Given the description of an element on the screen output the (x, y) to click on. 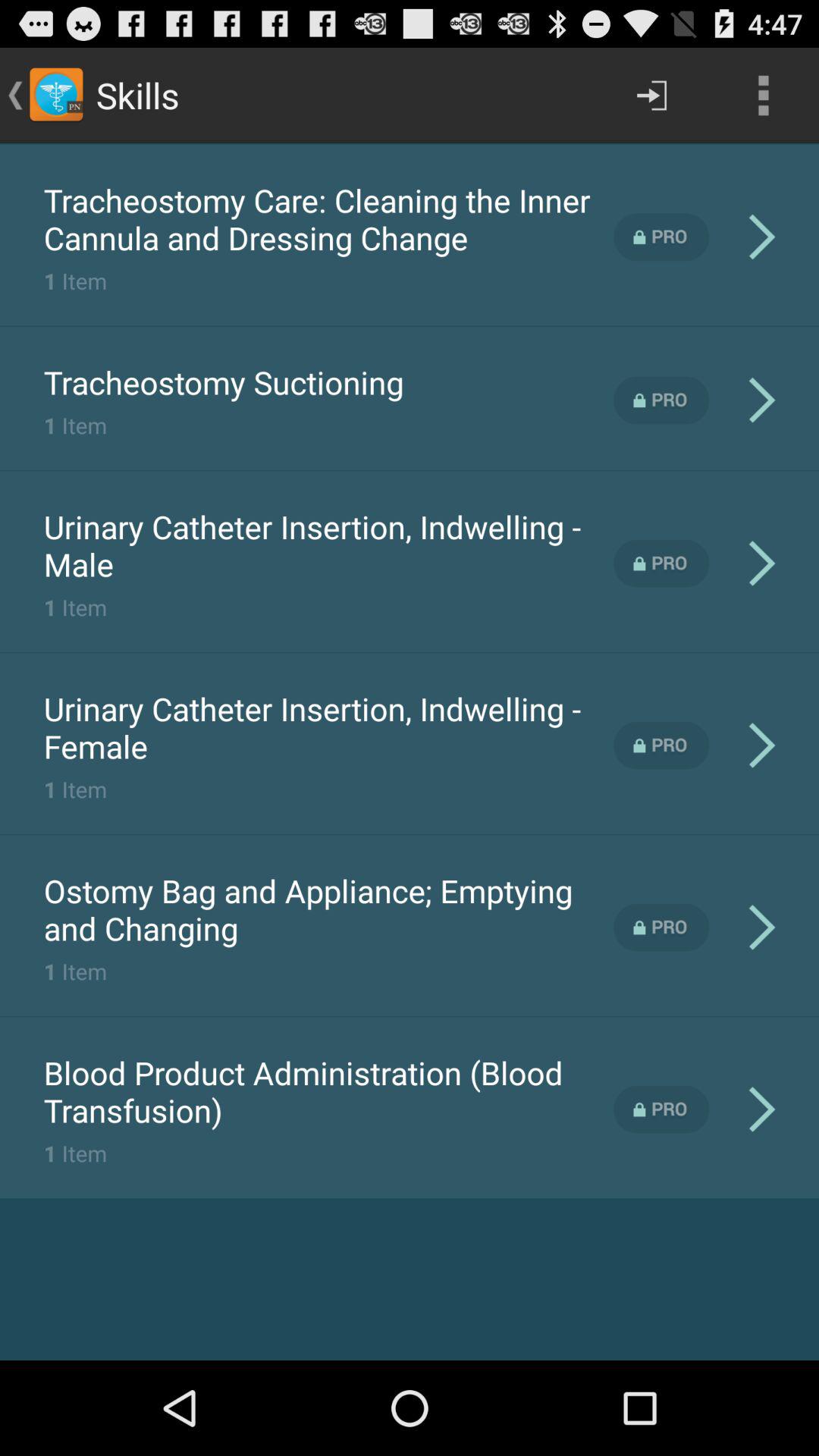
unlock content (661, 237)
